Given the description of an element on the screen output the (x, y) to click on. 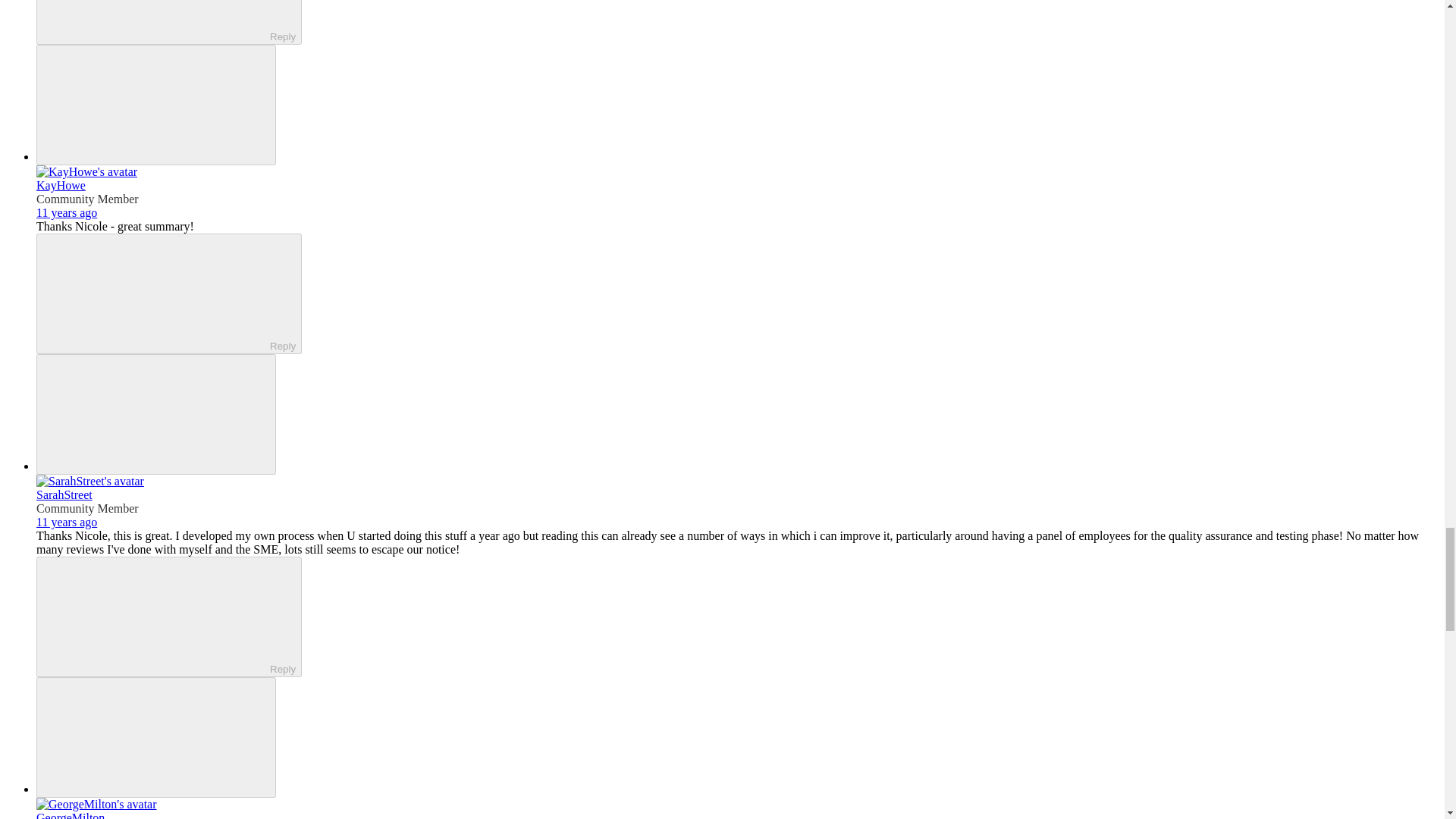
Reply (155, 615)
October 29, 2013 at 8:47 AM (66, 521)
October 29, 2013 at 8:24 AM (66, 212)
Reply (155, 292)
Reply (155, 20)
